Given the description of an element on the screen output the (x, y) to click on. 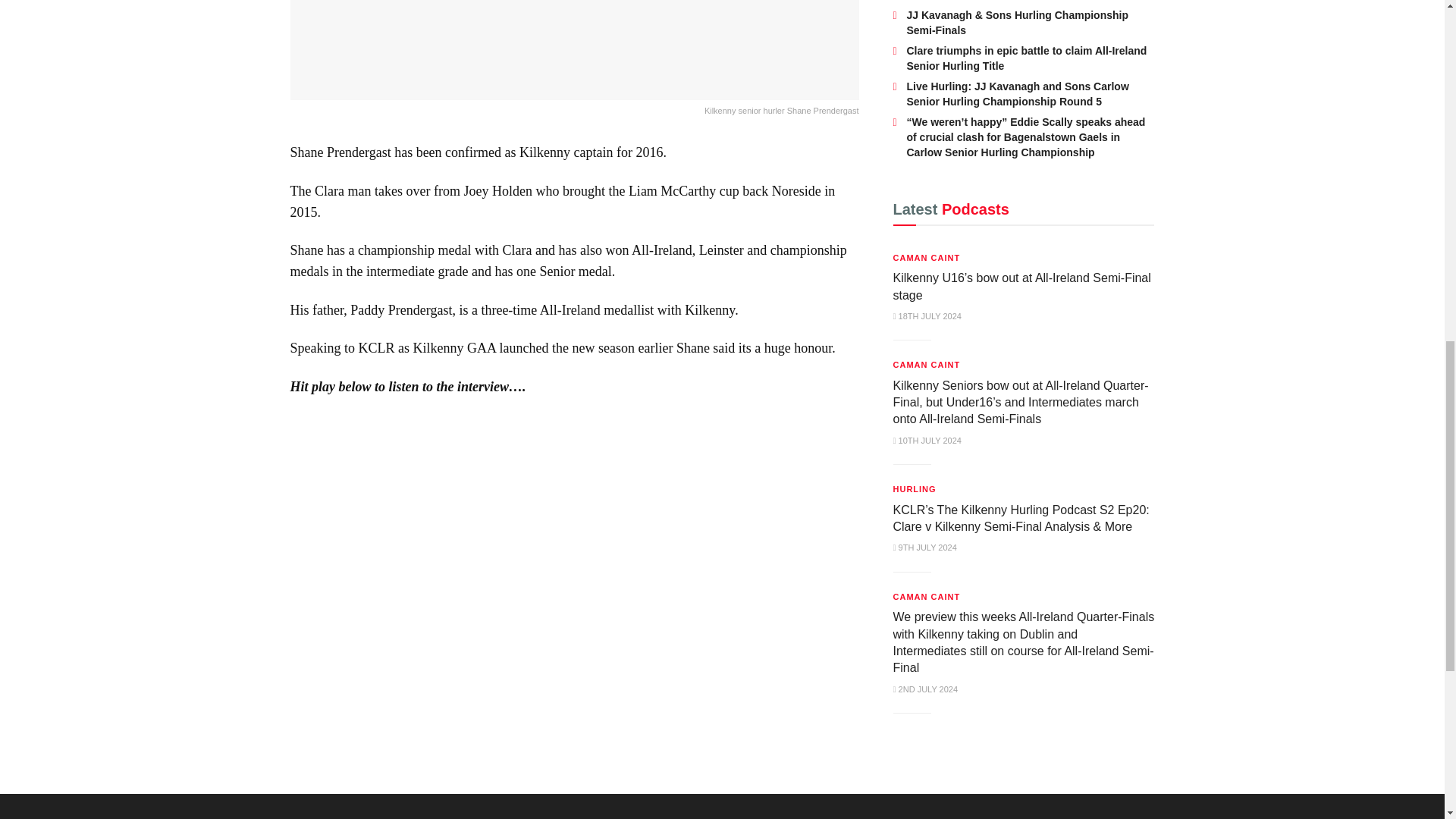
CAMAN CAINT (926, 257)
18TH JULY 2024 (926, 316)
CAMAN CAINT (926, 364)
10TH JULY 2024 (926, 440)
Kilkenny senior hurler Shane Prendergast (574, 59)
